Given the description of an element on the screen output the (x, y) to click on. 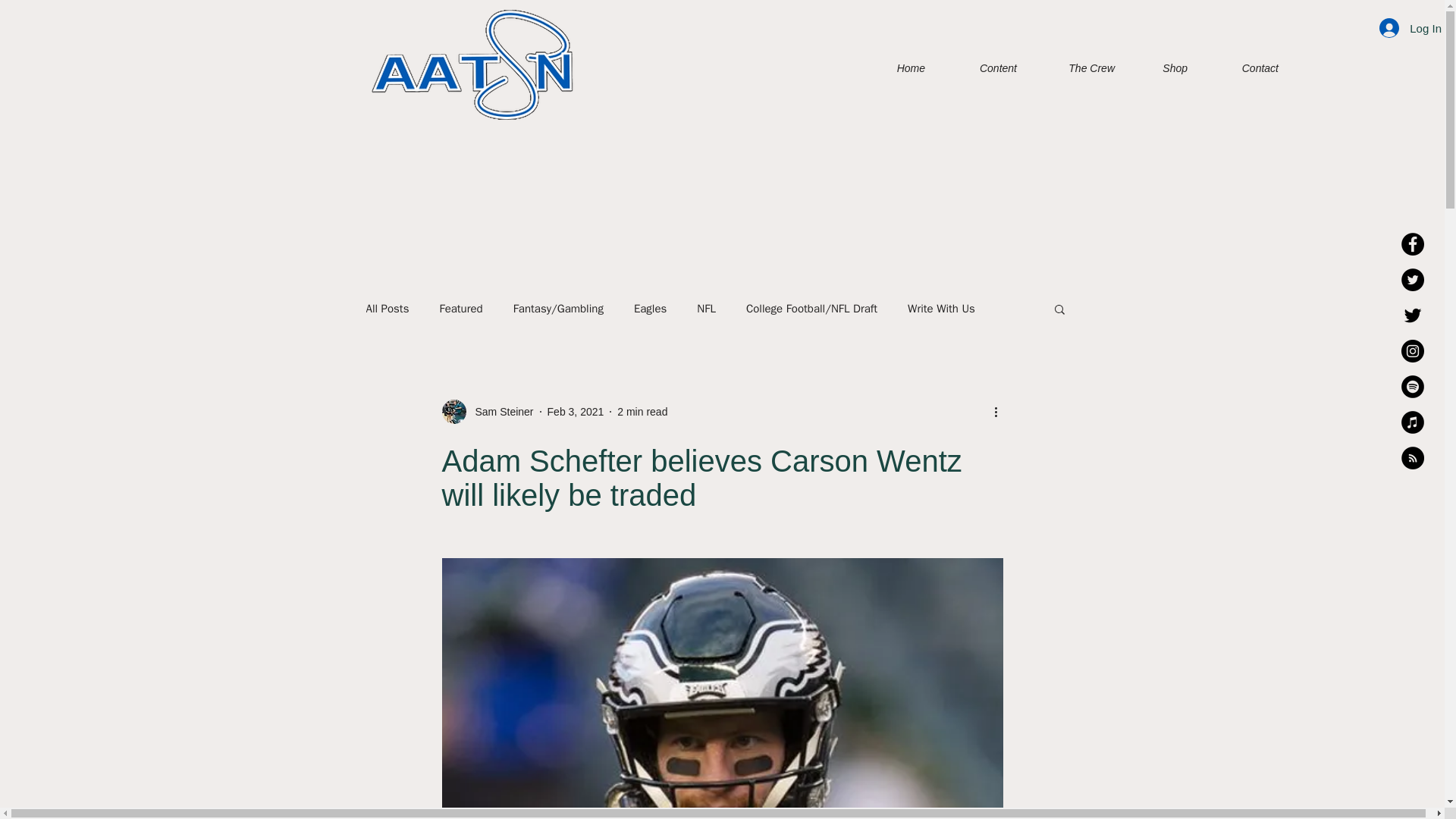
Sam Steiner (486, 411)
Feb 3, 2021 (575, 410)
Write With Us (941, 309)
Home (896, 67)
NFL (706, 309)
All Posts (387, 309)
Contact (1244, 67)
2 min read (641, 410)
Eagles (649, 309)
Shop (1161, 67)
